Given the description of an element on the screen output the (x, y) to click on. 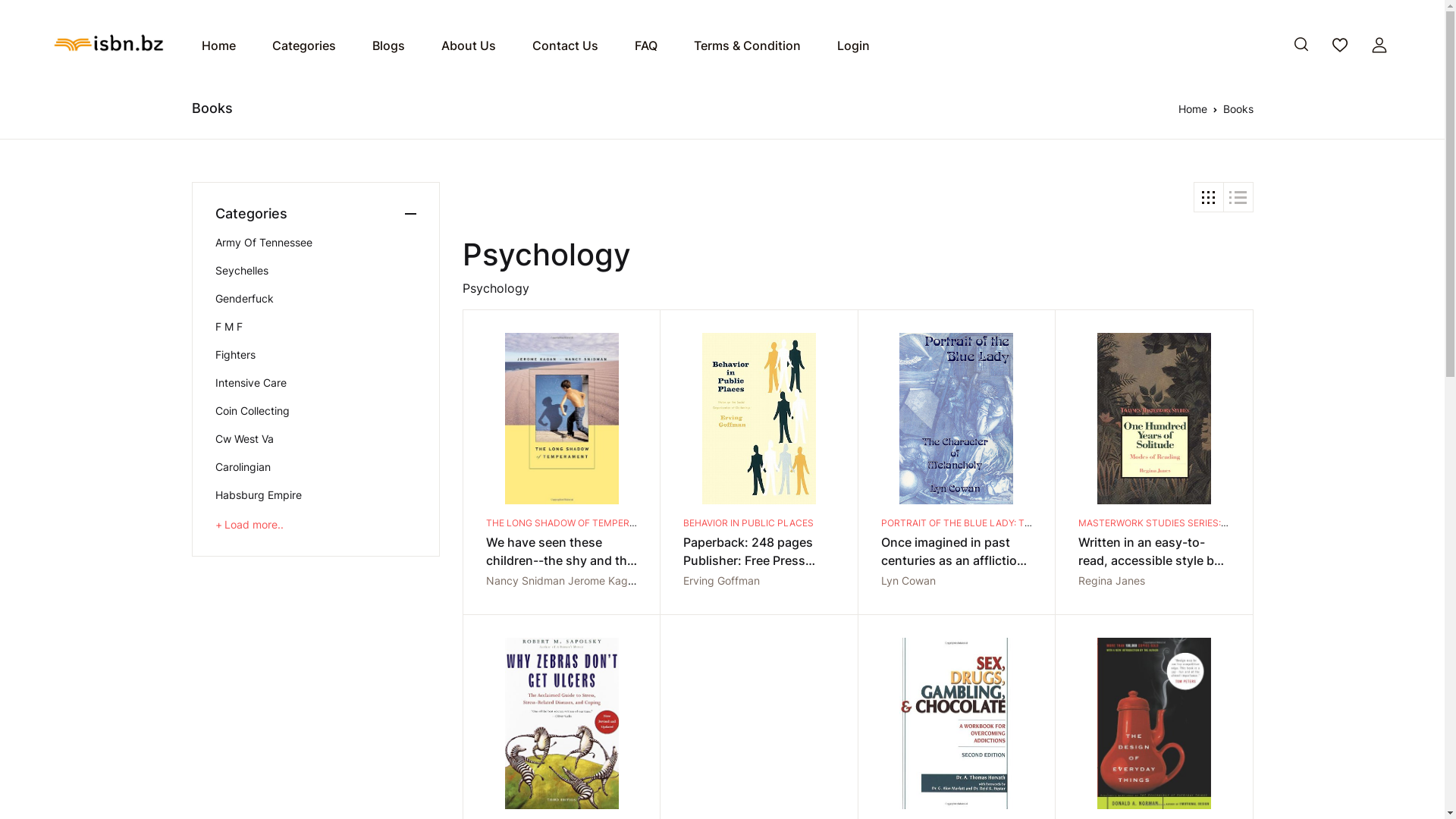
FAQ Element type: text (645, 45)
Seychelles Element type: text (316, 270)
Books Element type: text (1237, 108)
Genderfuck Element type: text (316, 298)
F M F Element type: text (316, 326)
Contact Us Element type: text (565, 45)
Categories Element type: text (303, 45)
Terms & Condition Element type: text (746, 45)
Home Element type: text (1192, 108)
Home Element type: text (218, 45)
BEHAVIOR IN PUBLIC PLACES Element type: text (748, 522)
Categories Element type: text (316, 213)
Login Element type: text (853, 45)
MASTERWORK STUDIES SERIES: 100 YEARS OF SOLITUDE Element type: text (1205, 522)
Carolingian Element type: text (316, 466)
THE LONG SHADOW OF TEMPERAMENT Element type: text (574, 522)
Intensive Care Element type: text (316, 382)
Habsburg Empire Element type: text (316, 494)
PORTRAIT OF THE BLUE LADY: THE CHARACTER OF MELANCHOLY Element type: text (1028, 522)
Blogs Element type: text (388, 45)
Army Of Tennessee Element type: text (316, 242)
Cw West Va Element type: text (316, 438)
+ Load more.. Element type: text (249, 524)
Coin Collecting Element type: text (316, 410)
Erving Goffman Element type: text (721, 580)
Lyn Cowan Element type: text (908, 580)
About Us Element type: text (468, 45)
Fighters Element type: text (316, 354)
Regina Janes Element type: text (1111, 580)
Nancy Snidman Jerome Kagan Element type: text (563, 580)
